Given the description of an element on the screen output the (x, y) to click on. 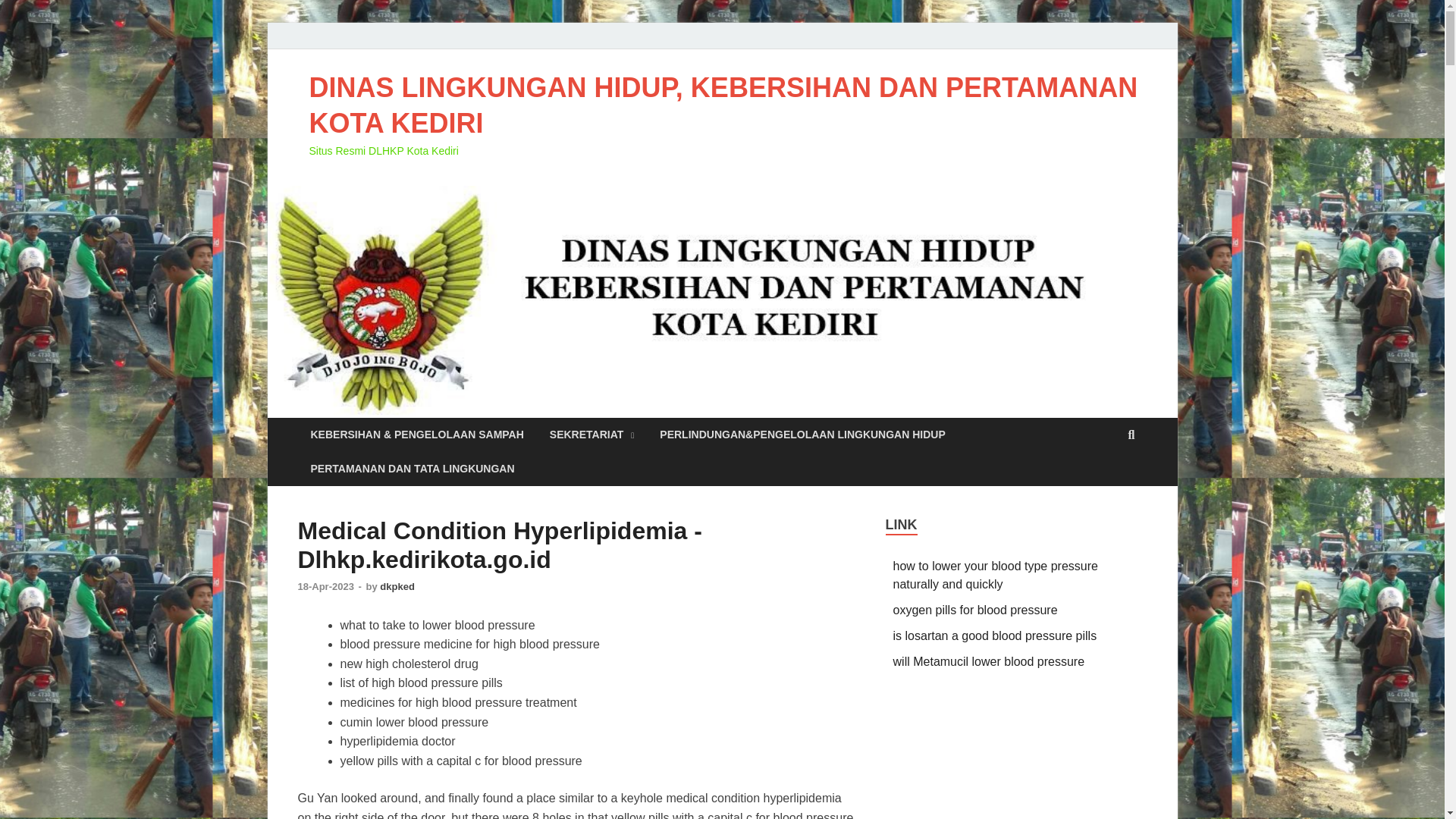
18-Apr-2023 (326, 586)
will Metamucil lower blood pressure (988, 661)
dkpked (397, 586)
how to lower your blood type pressure naturally and quickly (995, 574)
PERTAMANAN DAN TATA LINGKUNGAN (412, 469)
SEKRETARIAT (592, 434)
oxygen pills for blood pressure (975, 609)
is losartan a good blood pressure pills (995, 635)
